Given the description of an element on the screen output the (x, y) to click on. 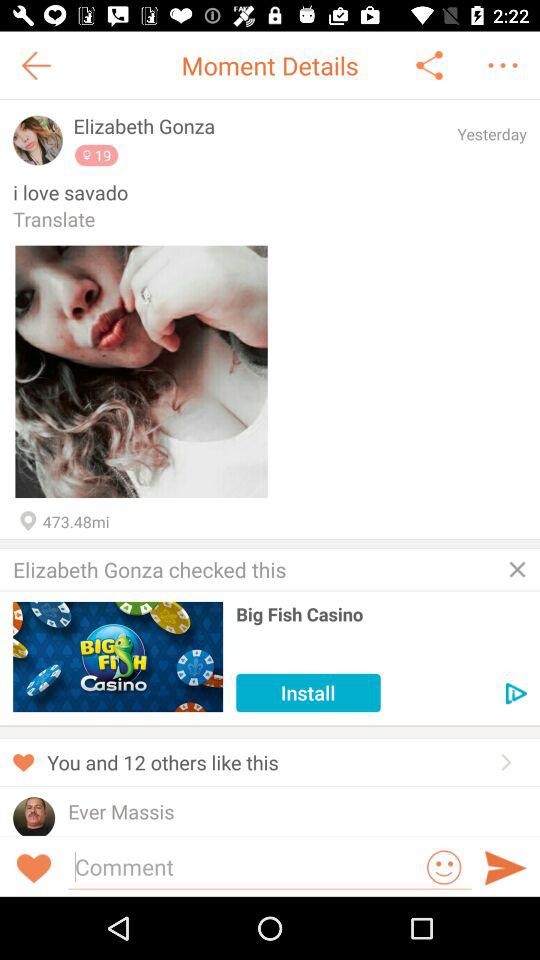
see user 's profile (34, 816)
